Given the description of an element on the screen output the (x, y) to click on. 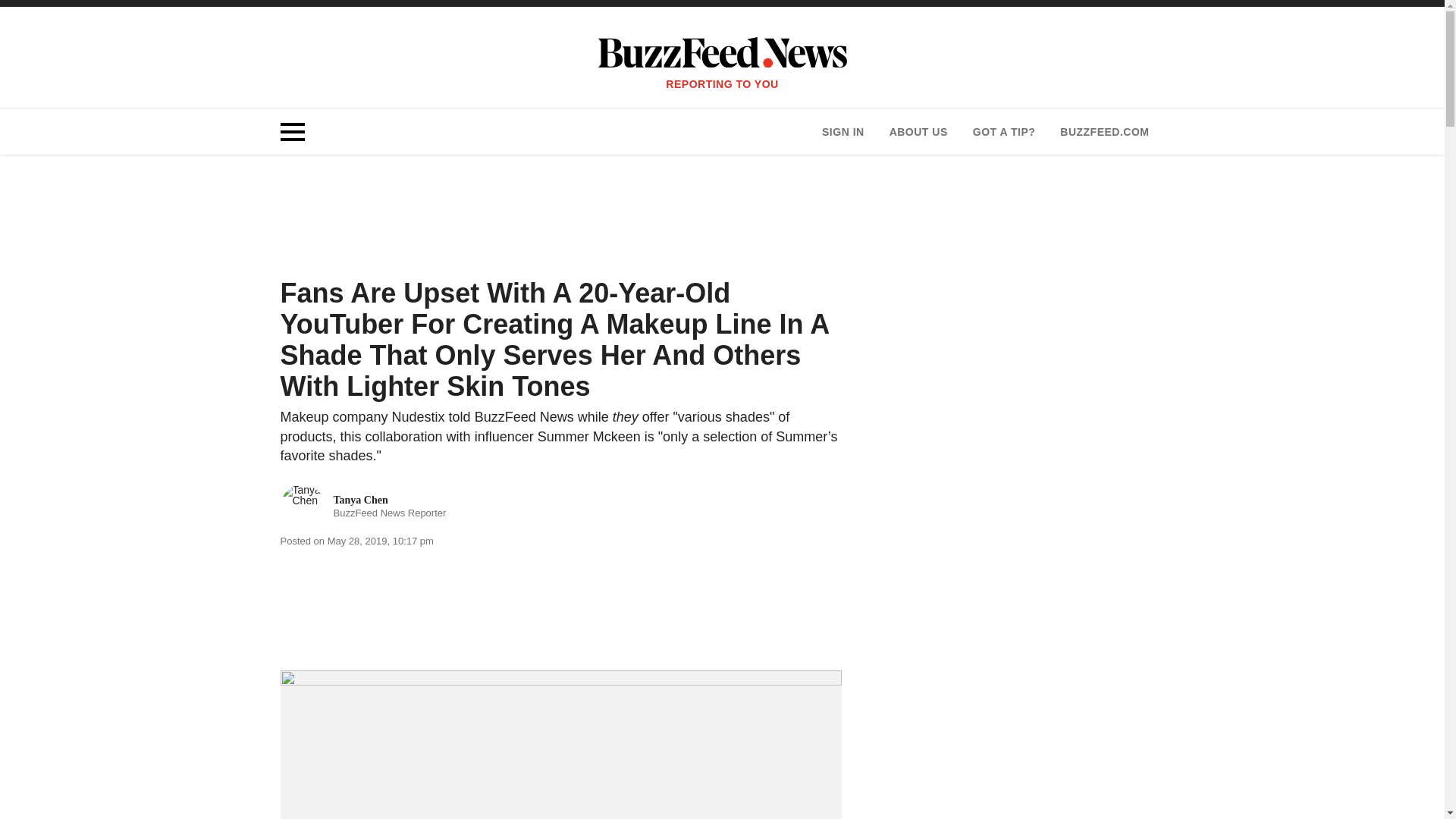
SIGN IN (363, 506)
BUZZFEED.COM (842, 131)
ABOUT US (1103, 131)
GOT A TIP? (917, 131)
